Given the description of an element on the screen output the (x, y) to click on. 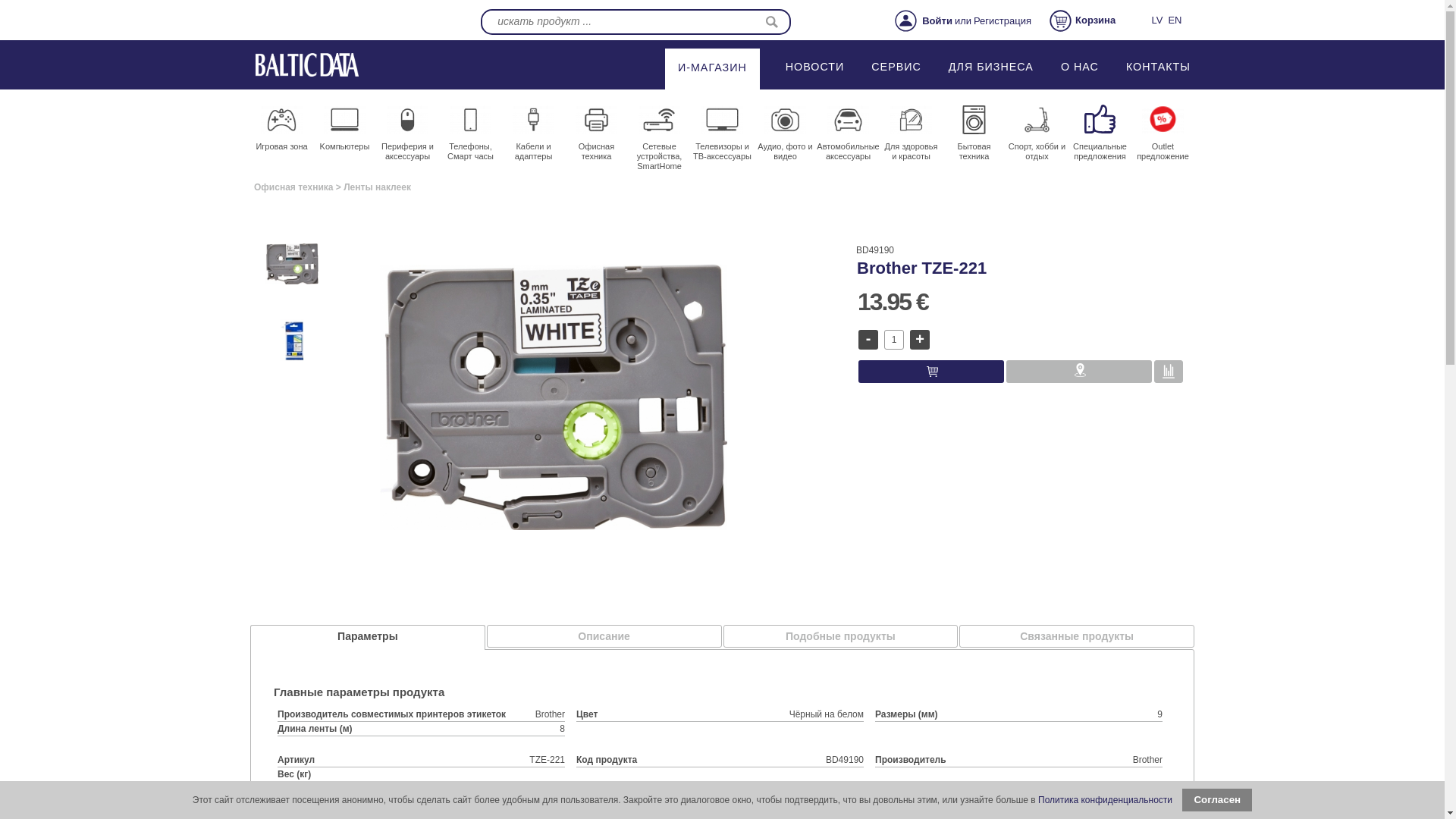
on (1168, 371)
EN (1173, 20)
1 (893, 339)
LV (1156, 20)
